Given the description of an element on the screen output the (x, y) to click on. 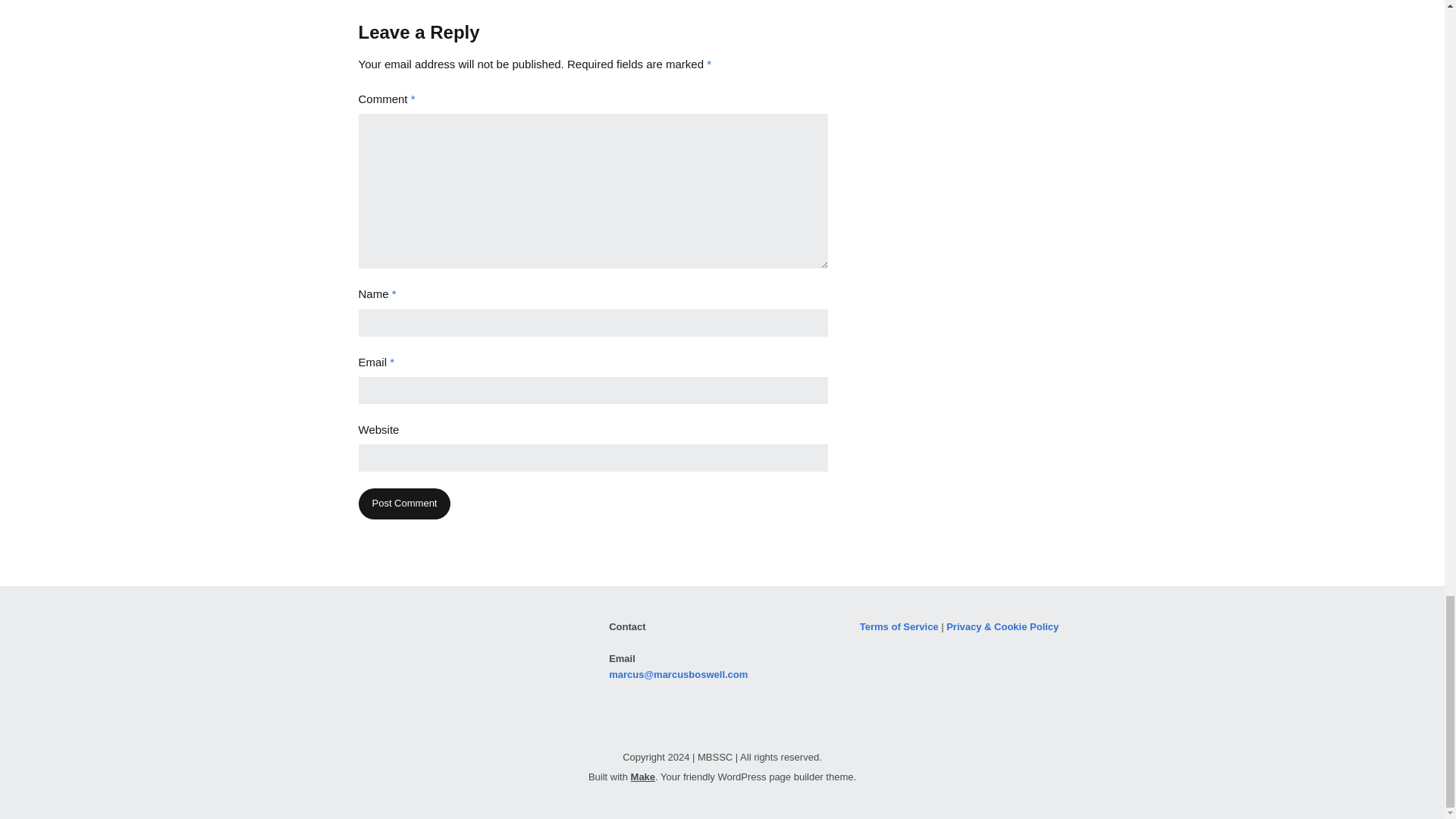
Terms of Service (899, 626)
Make (643, 776)
Post Comment (403, 503)
Post Comment (403, 503)
